Given the description of an element on the screen output the (x, y) to click on. 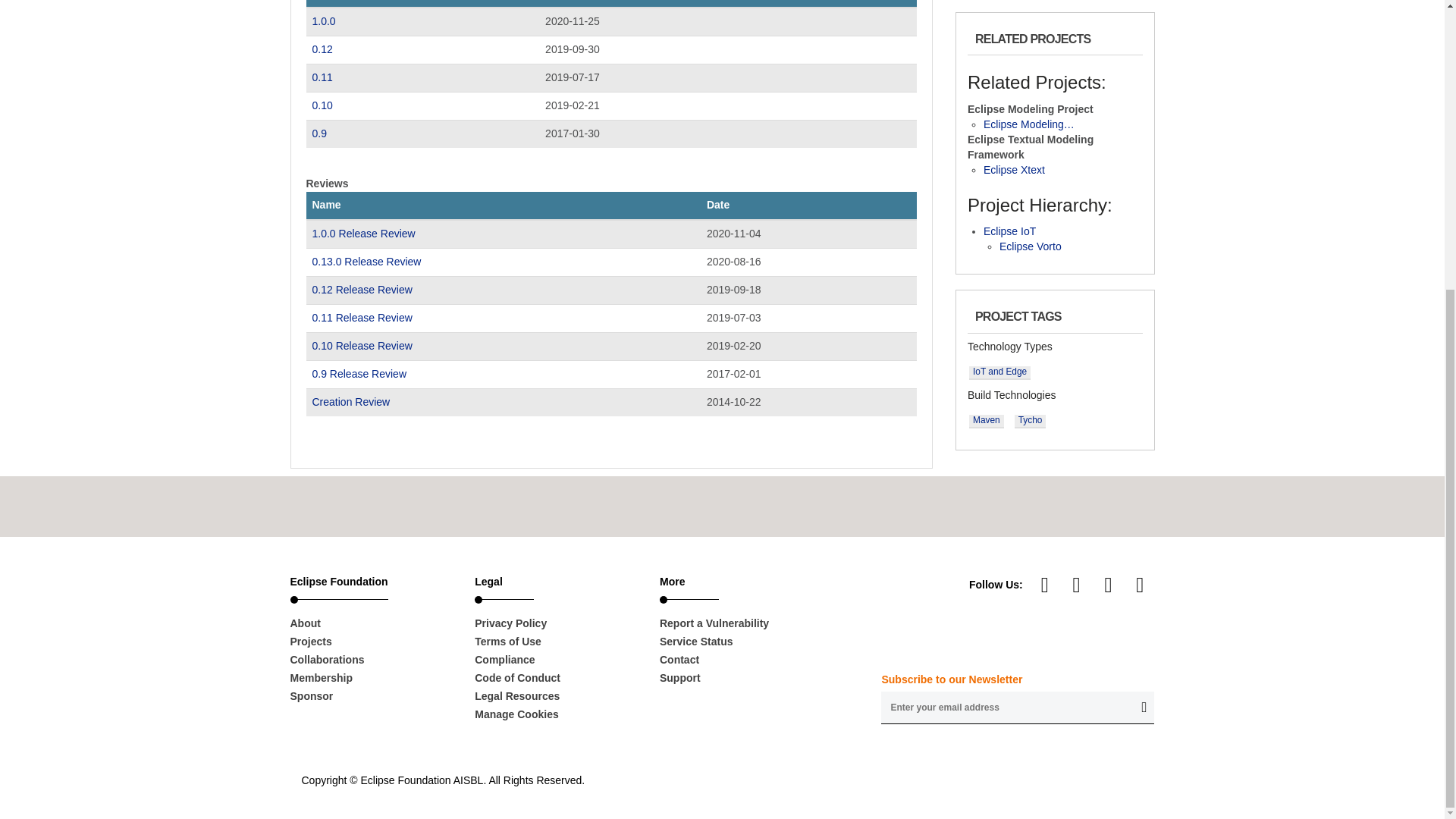
YouTube Channel (1044, 583)
Twitter (1139, 583)
LinkedIn (1076, 583)
Facebook (1108, 583)
